Given the description of an element on the screen output the (x, y) to click on. 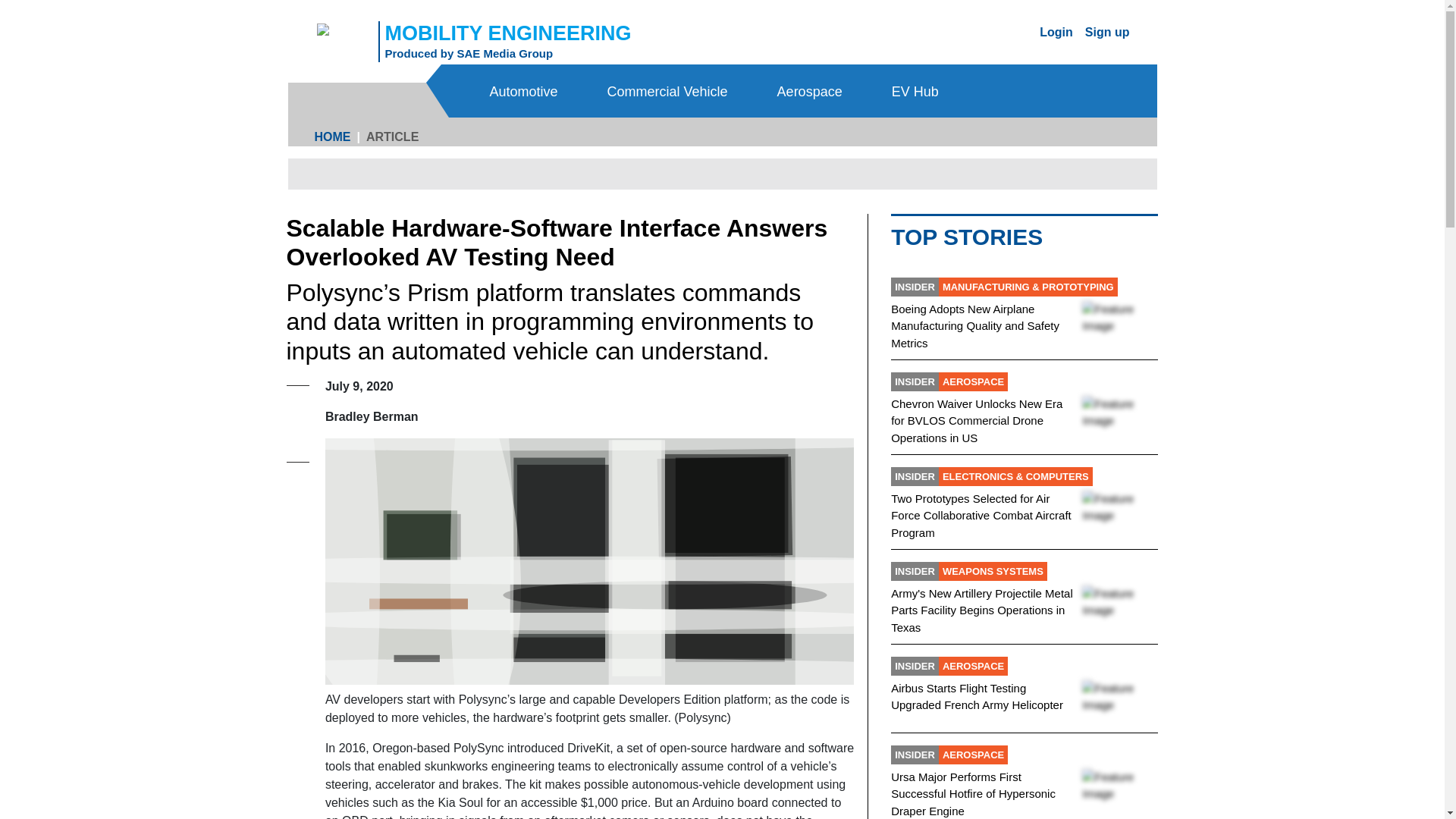
Commercial Vehicle (669, 91)
Sign up (1106, 31)
Aerospace (469, 52)
Login (811, 91)
Automotive (1055, 31)
EV Hub (525, 91)
